Given the description of an element on the screen output the (x, y) to click on. 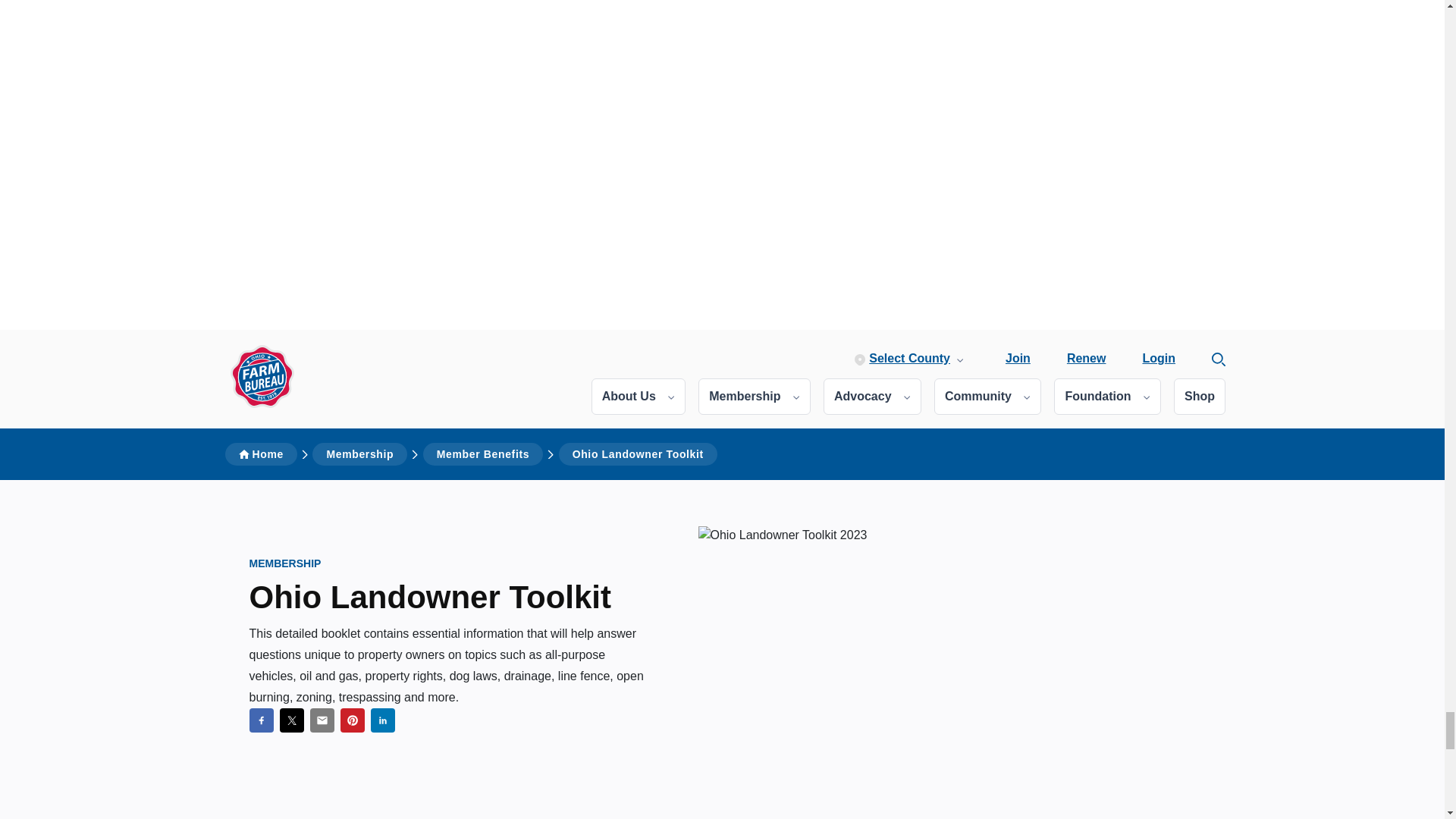
Select County (909, 358)
Renew (1086, 358)
